Given the description of an element on the screen output the (x, y) to click on. 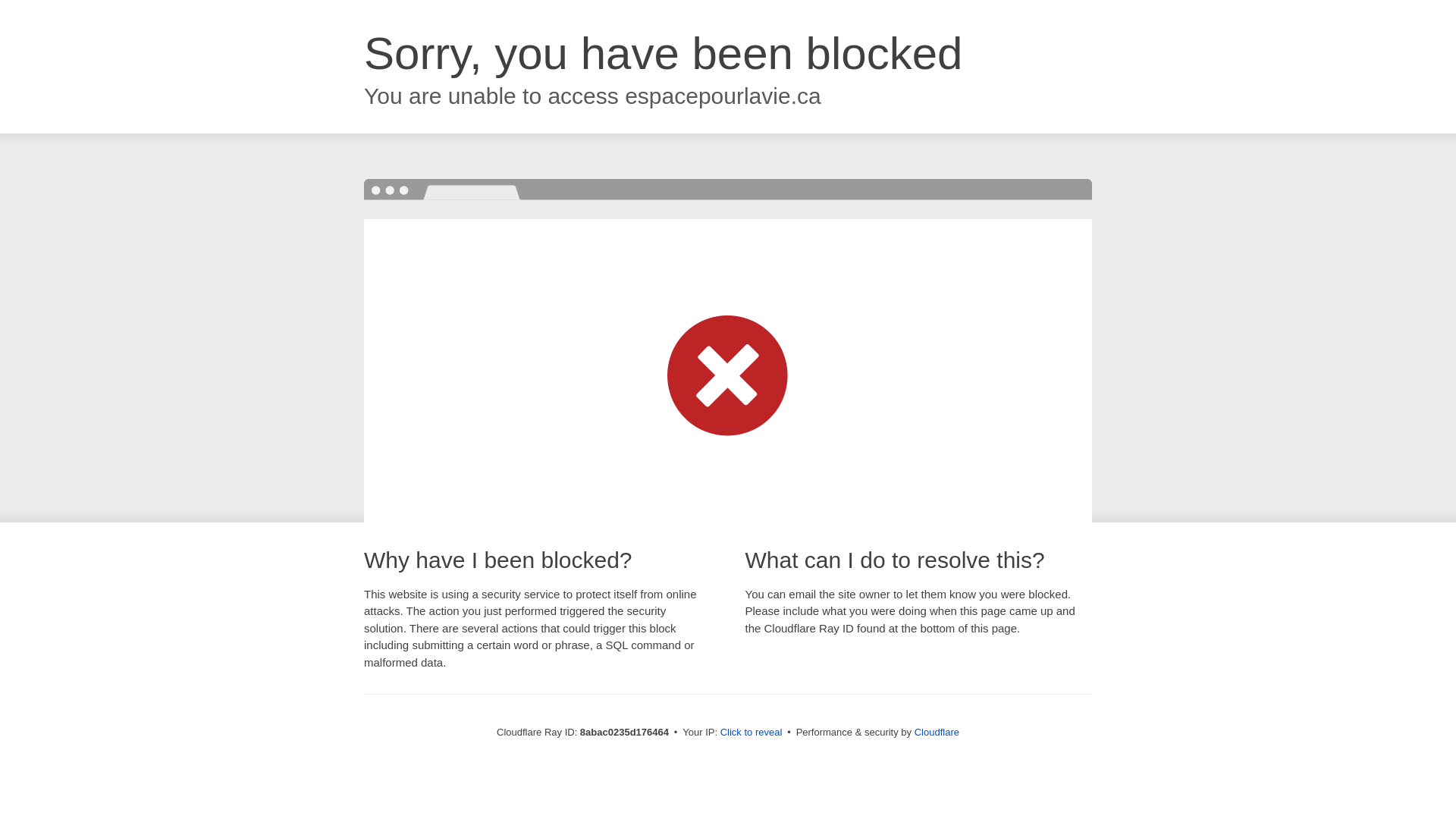
Click to reveal (751, 732)
Cloudflare (936, 731)
